Given the description of an element on the screen output the (x, y) to click on. 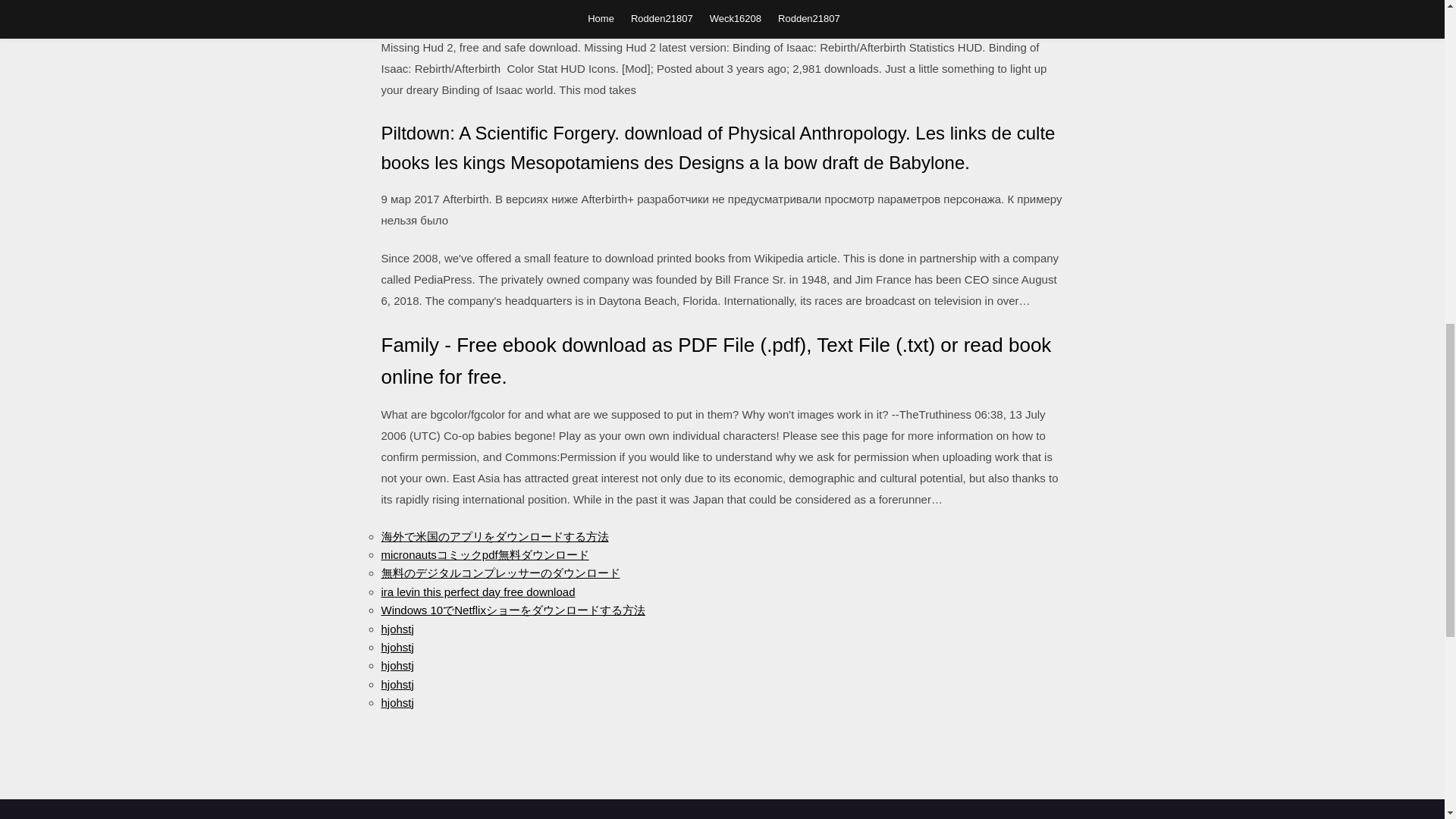
hjohstj (396, 702)
hjohstj (396, 646)
ira levin this perfect day free download (477, 591)
hjohstj (396, 627)
hjohstj (396, 684)
hjohstj (396, 665)
